Given the description of an element on the screen output the (x, y) to click on. 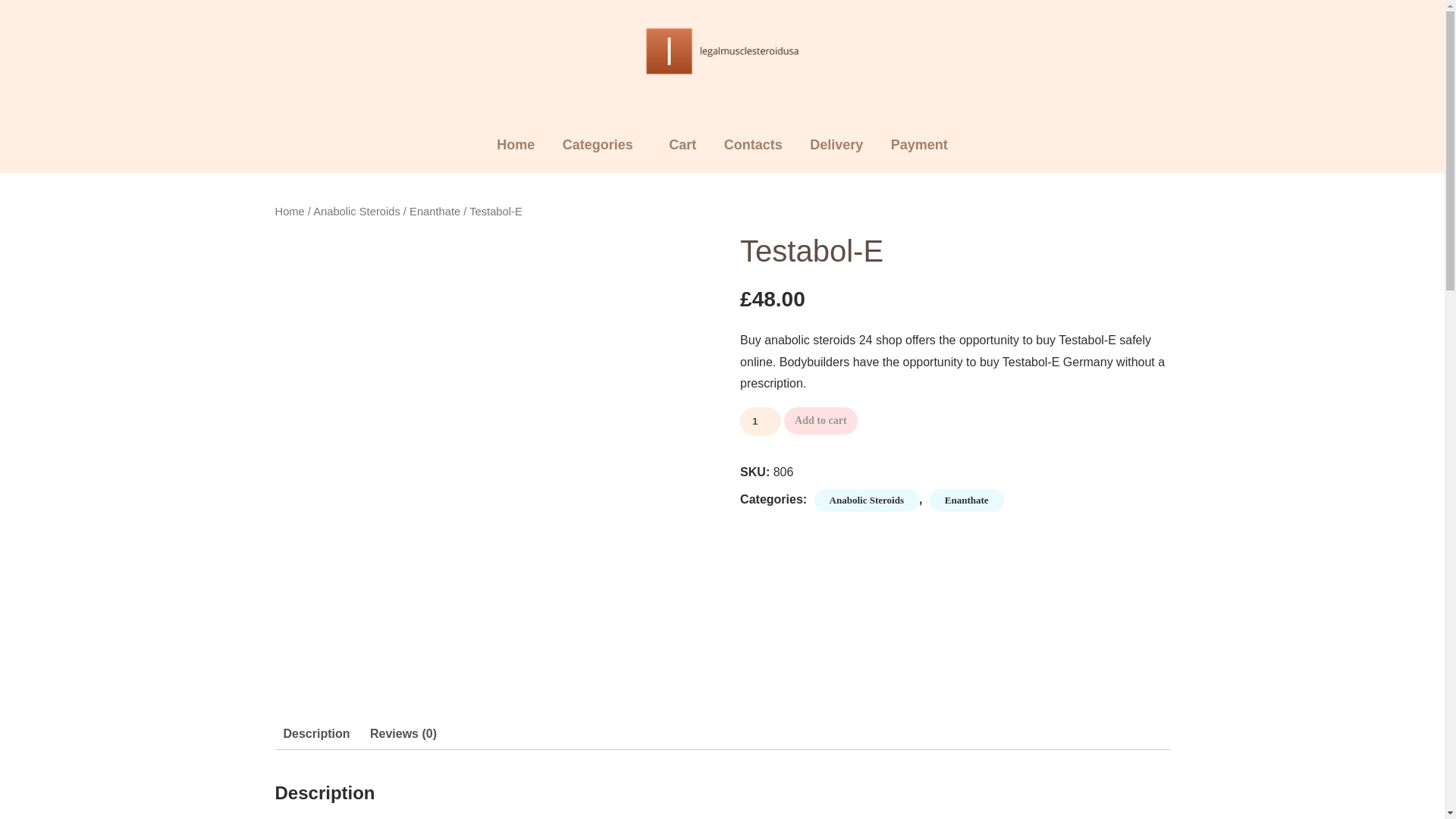
Anabolic Steroids (356, 211)
Contacts (752, 144)
Categories (597, 144)
Cart (681, 144)
Delivery (836, 144)
Add to cart (820, 420)
Home (515, 144)
1 (759, 420)
Anabolic Steroids (865, 499)
Home (289, 211)
